Given the description of an element on the screen output the (x, y) to click on. 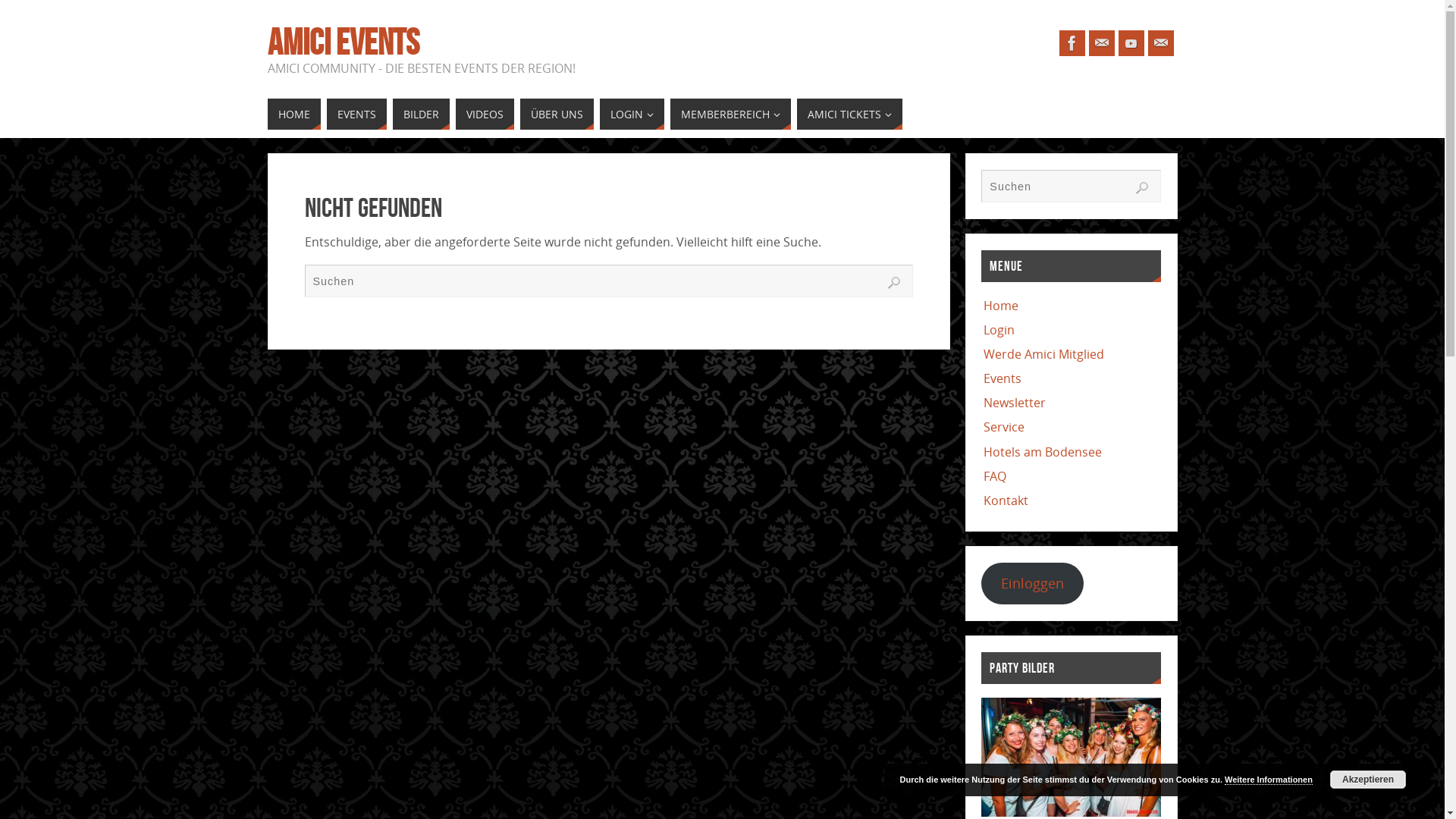
Contact Element type: hover (1101, 43)
Hotels am Bodensee Element type: text (1042, 451)
AMICI TICKETS Element type: text (848, 113)
MEMBERBEREICH Element type: text (730, 113)
Home Element type: text (1000, 305)
Facebook Element type: hover (1071, 43)
Login Element type: text (998, 329)
Werde Amici Mitglied Element type: text (1043, 353)
FAQ Element type: text (994, 475)
EVENTS Element type: text (355, 113)
Einloggen Element type: text (1032, 583)
HOME Element type: text (293, 113)
YouTube Element type: hover (1130, 43)
BILDER Element type: text (420, 113)
Service Element type: text (1003, 426)
Newsletter Element type: text (1014, 402)
Kontakt Element type: text (1005, 500)
Weitere Informationen Element type: text (1268, 779)
Events Element type: text (1002, 378)
Akzeptieren Element type: text (1367, 779)
VIDEOS Element type: text (484, 113)
AMICI EVENTS Element type: text (342, 42)
LOGIN Element type: text (631, 113)
Mail Element type: hover (1160, 43)
